Given the description of an element on the screen output the (x, y) to click on. 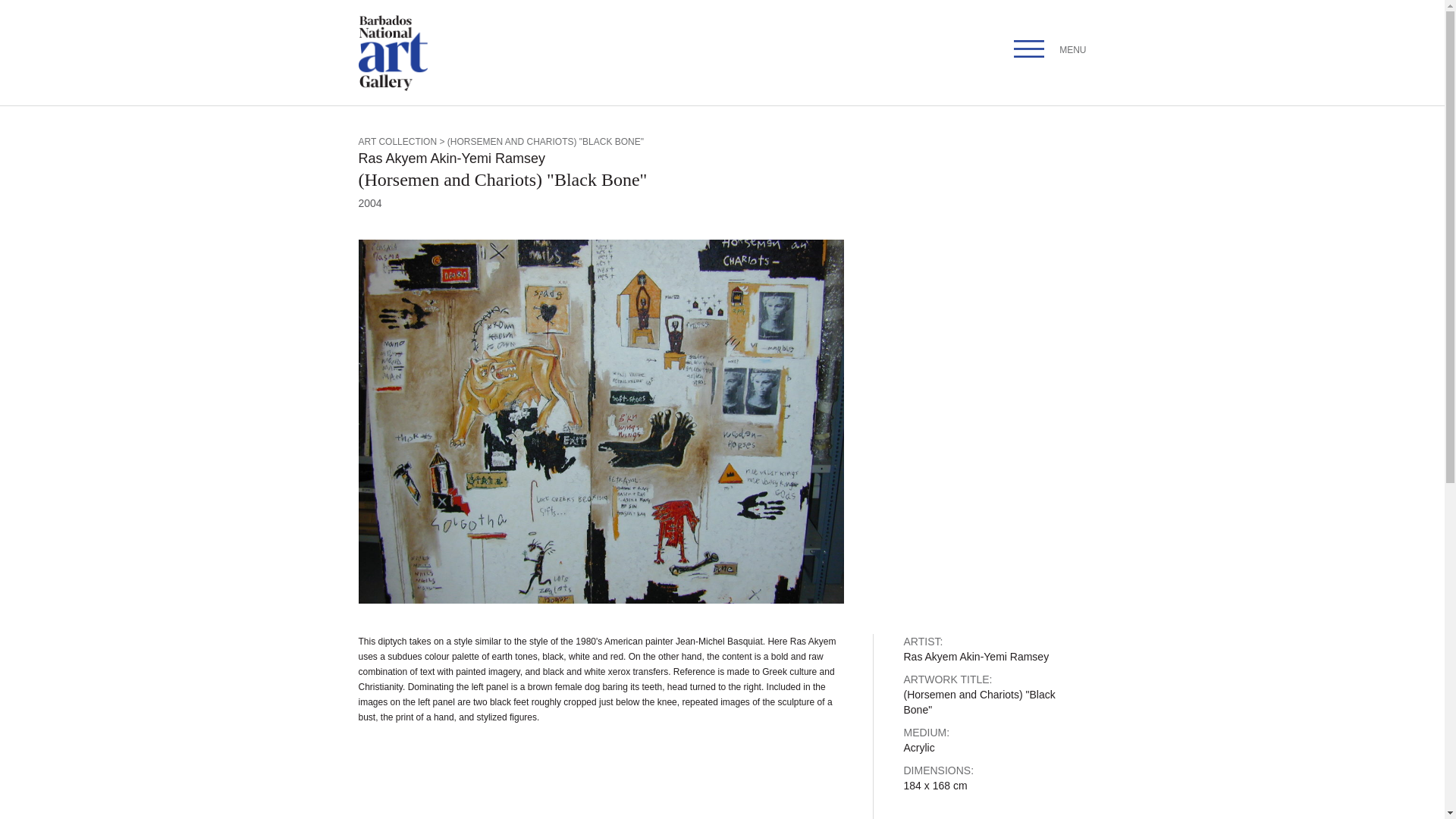
Barbados National Art Gallery (393, 52)
Art Collection (397, 141)
Barbados National Art Gallery - Home (393, 87)
ART COLLECTION (397, 141)
